Given the description of an element on the screen output the (x, y) to click on. 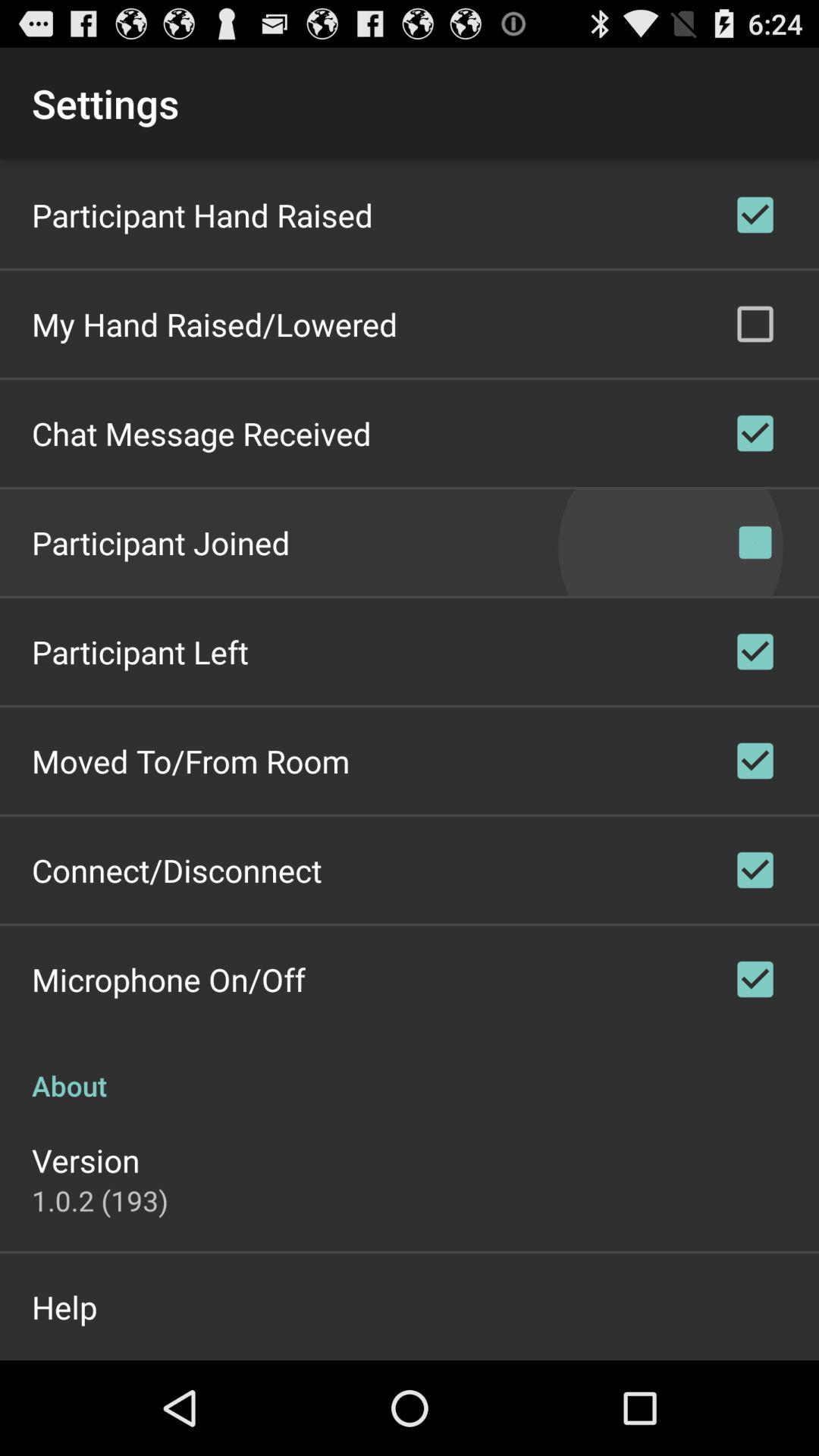
select 1 0 2 (99, 1200)
